Given the description of an element on the screen output the (x, y) to click on. 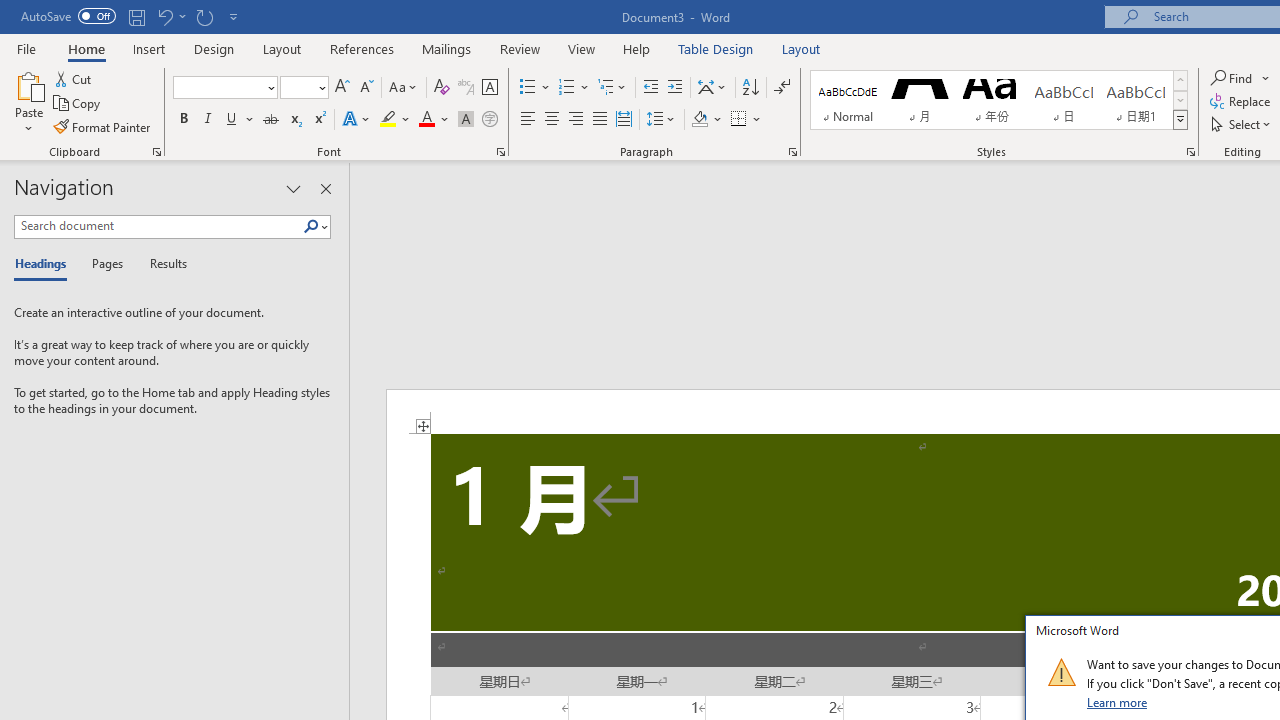
Undo Text Fill Effect (164, 15)
AutomationID: QuickStylesGallery (999, 99)
Select (1242, 124)
